Given the description of an element on the screen output the (x, y) to click on. 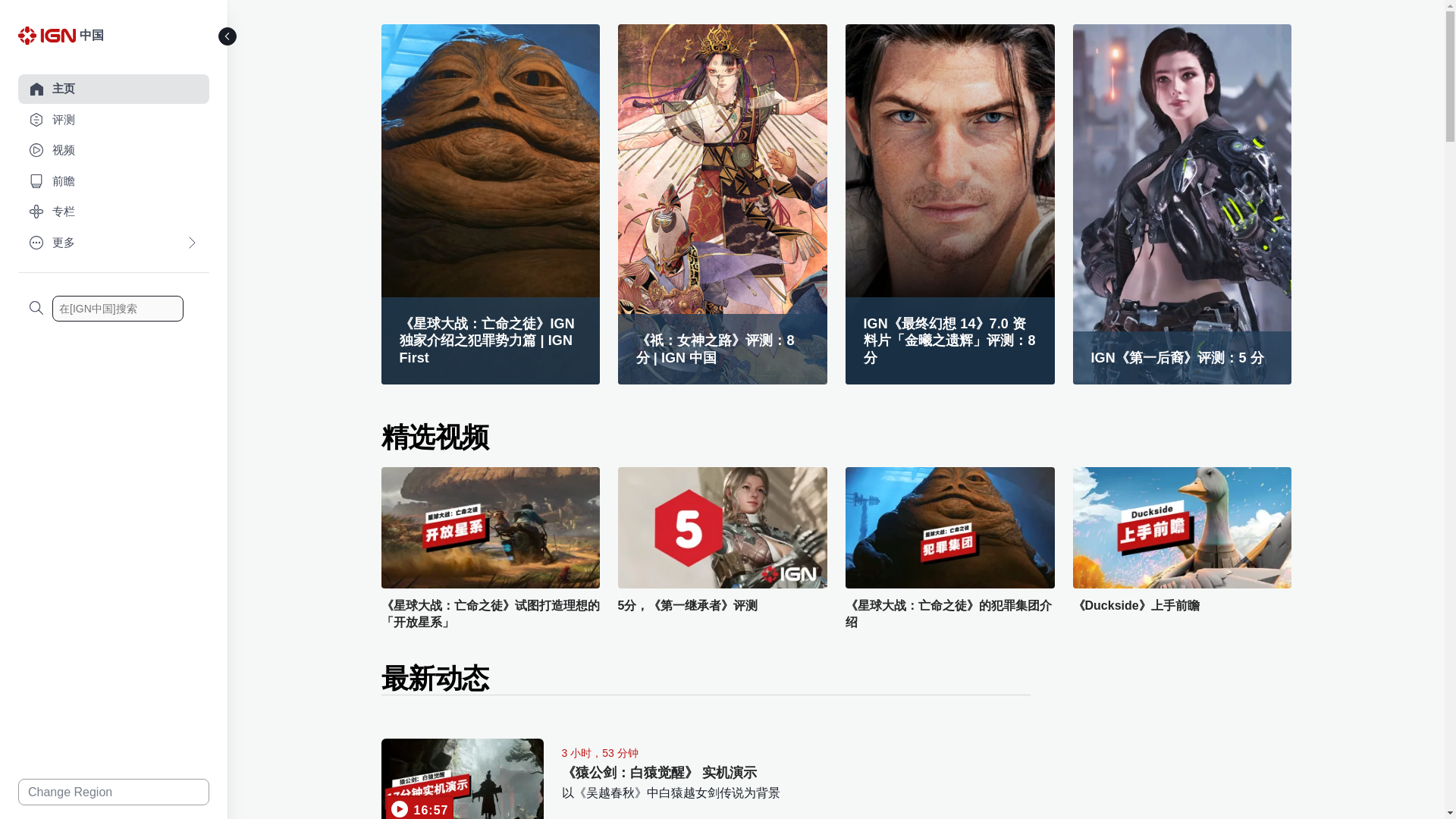
IGN Logo (48, 39)
Toggle Sidebar (226, 36)
IGN Logo (46, 34)
